Given the description of an element on the screen output the (x, y) to click on. 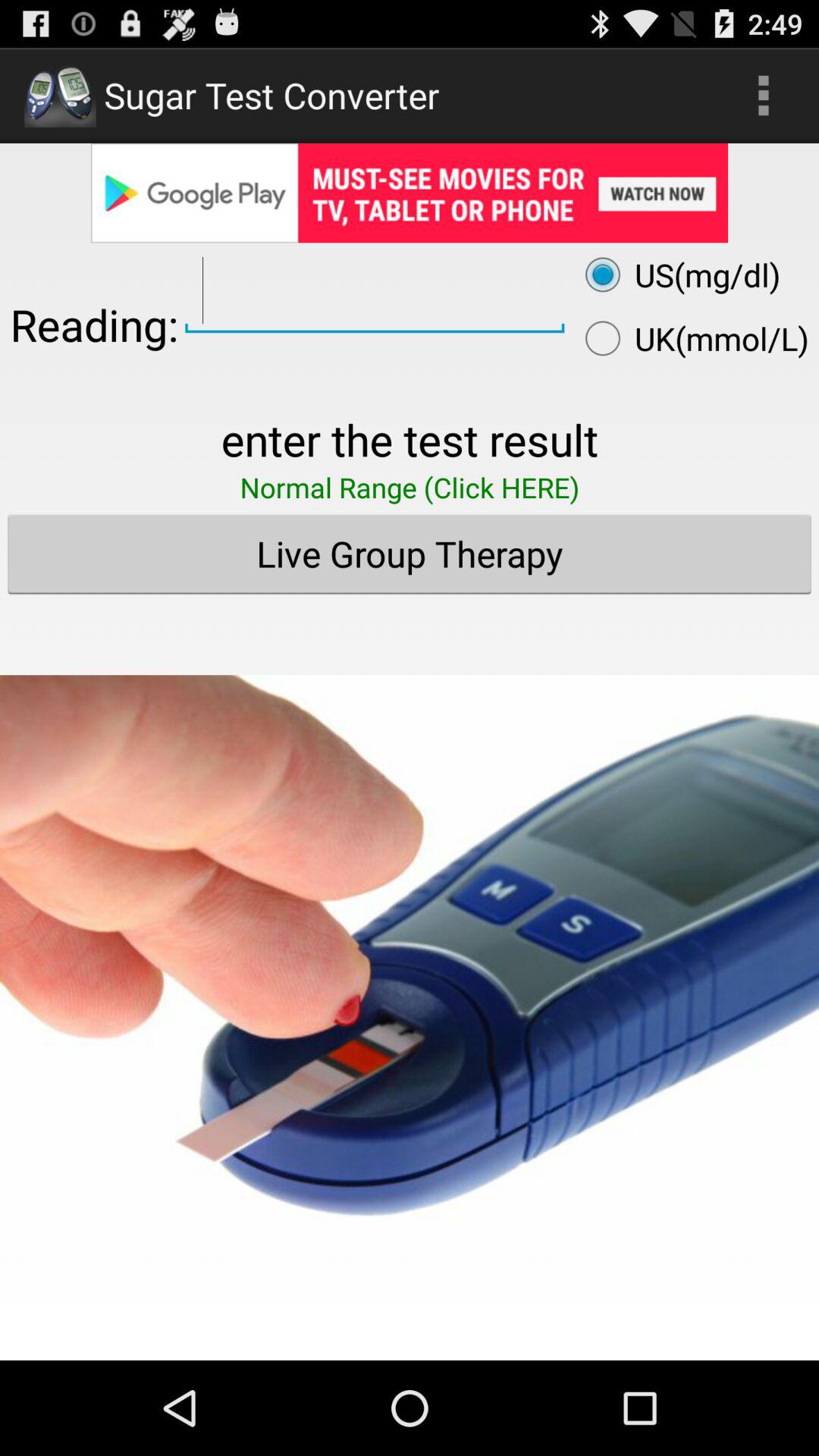
open image (409, 964)
